Given the description of an element on the screen output the (x, y) to click on. 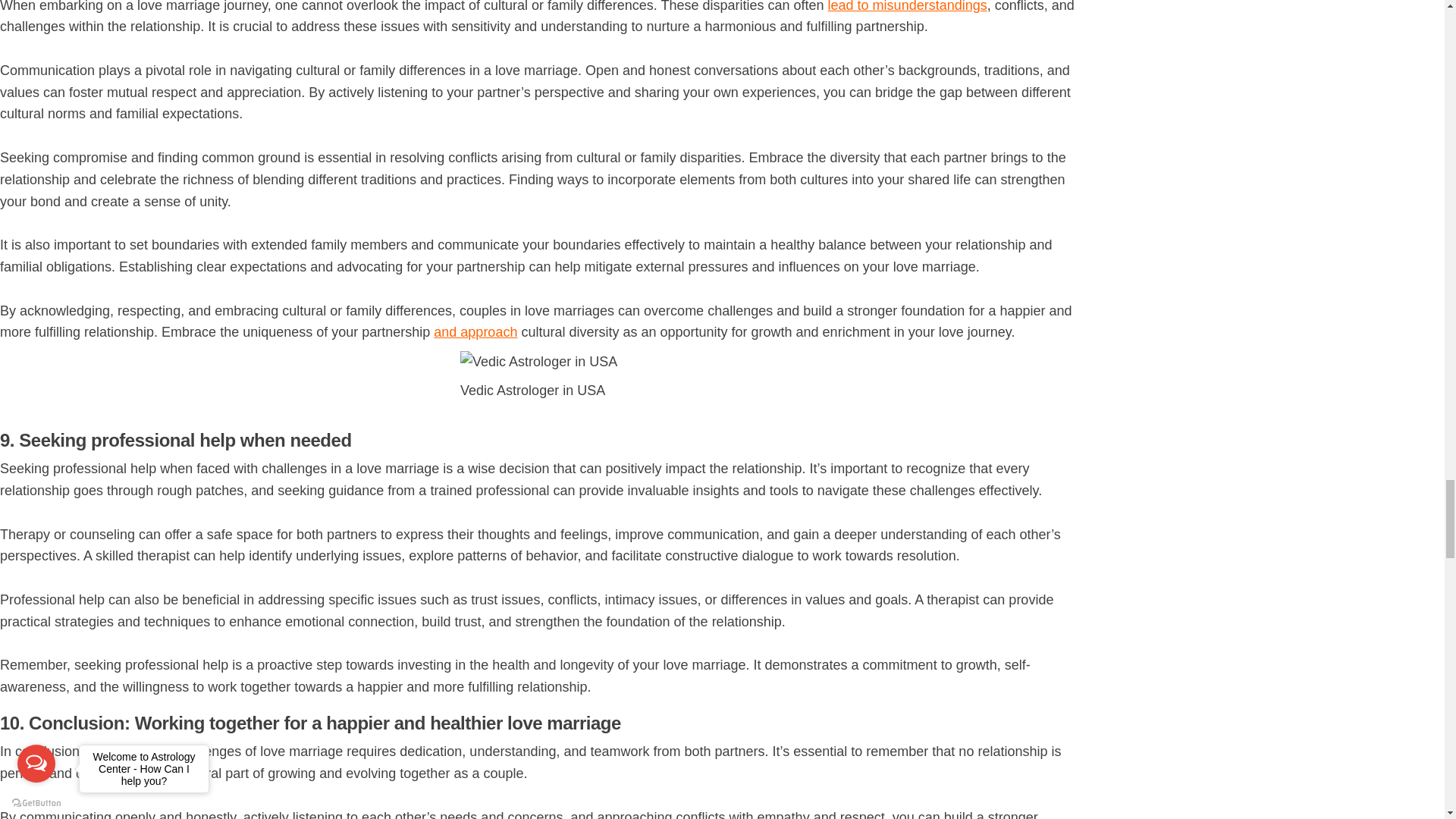
lead to misunderstandings (907, 6)
and approach (474, 331)
